Given the description of an element on the screen output the (x, y) to click on. 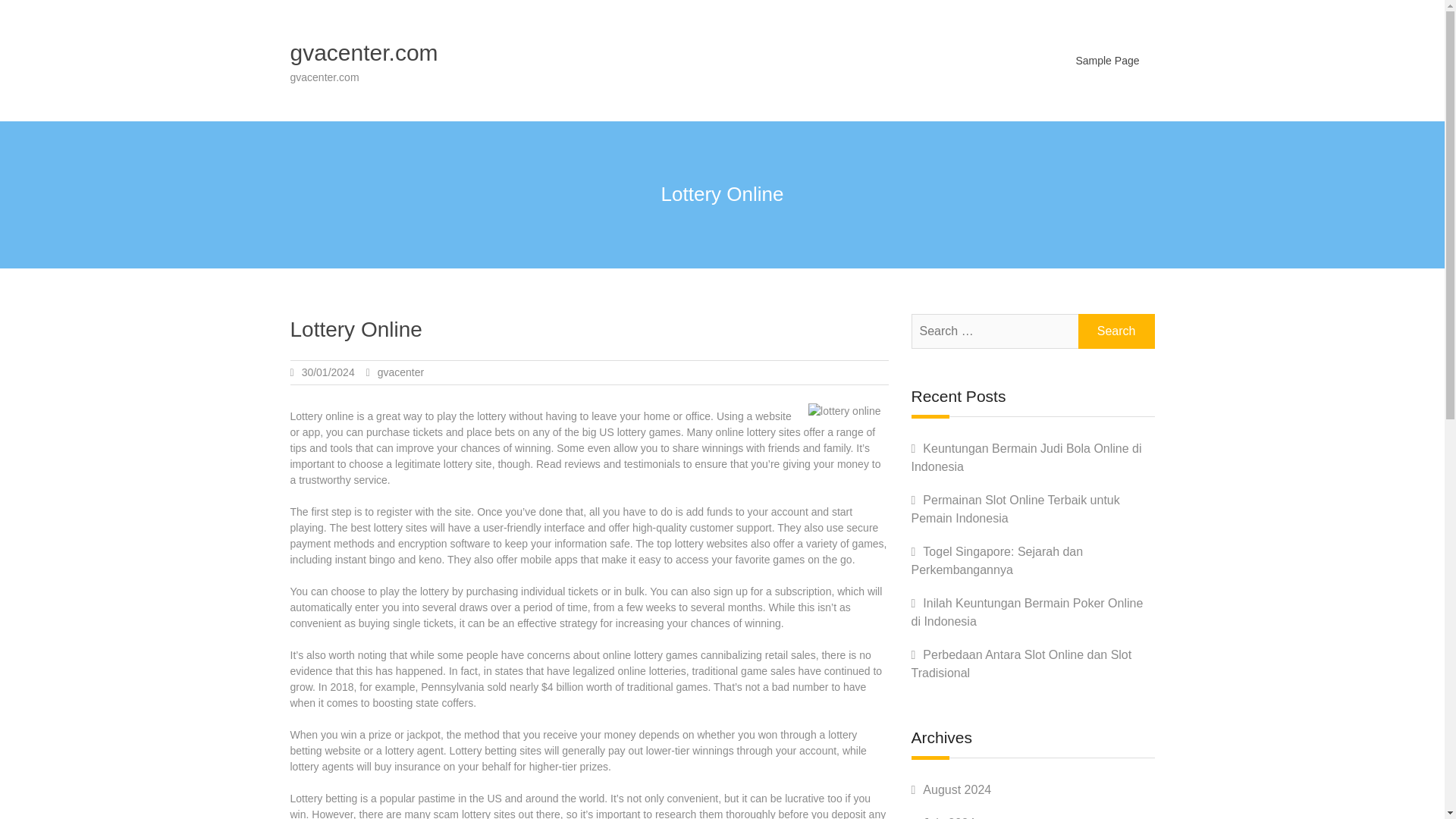
Perbedaan Antara Slot Online dan Slot Tradisional (1021, 663)
gvacenter.com (363, 52)
July 2024 (949, 817)
Search (1116, 330)
Search (1116, 330)
Sample Page (1106, 59)
Search (1116, 330)
Keuntungan Bermain Judi Bola Online di Indonesia (1026, 457)
Togel Singapore: Sejarah dan Perkembangannya (997, 560)
August 2024 (957, 789)
